Given the description of an element on the screen output the (x, y) to click on. 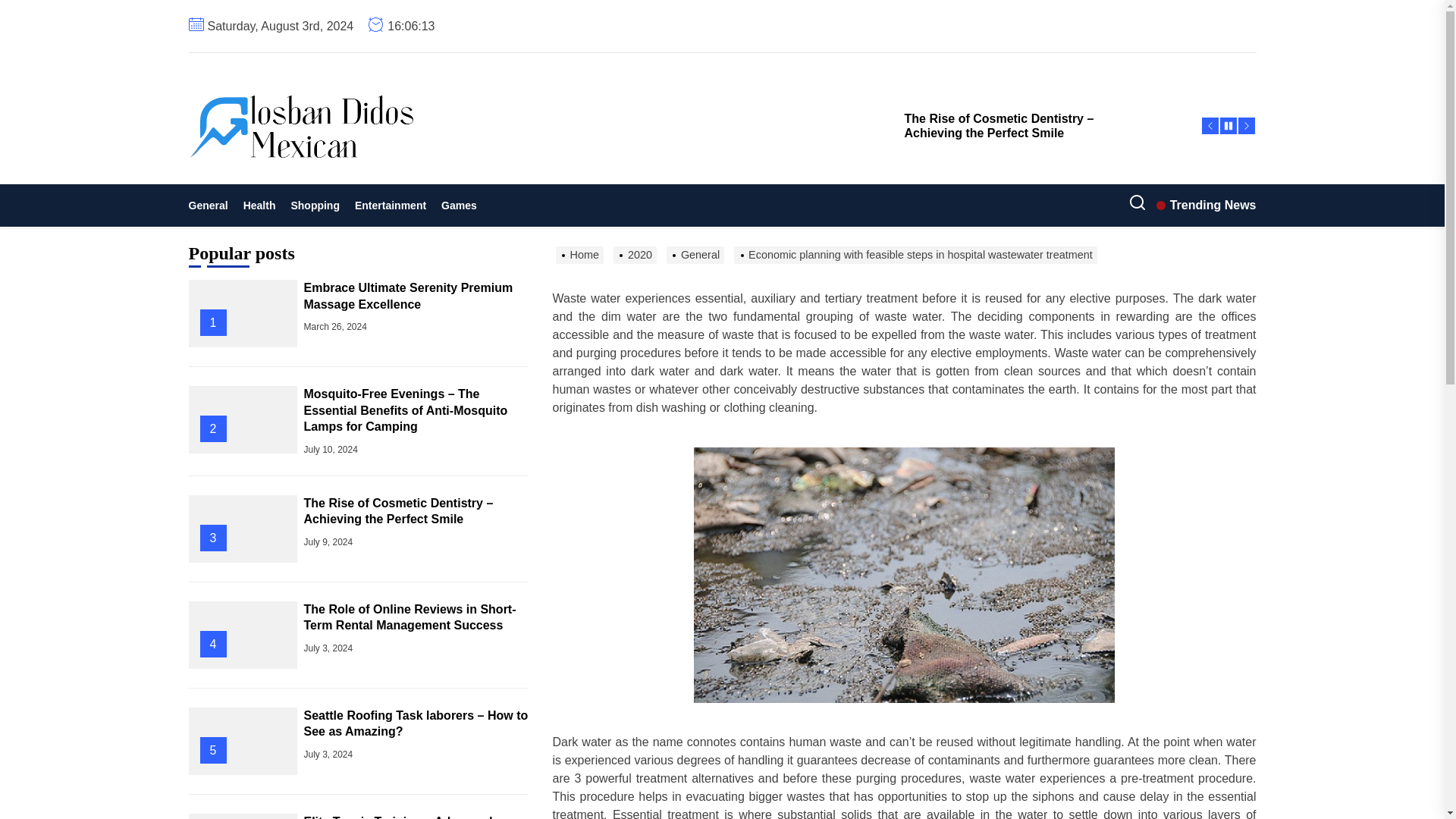
Trending News (1206, 205)
Entertainment (390, 204)
General (210, 204)
Shopping (314, 204)
PHYSICAL FITNESS (368, 187)
Games (458, 204)
Health (259, 204)
